Given the description of an element on the screen output the (x, y) to click on. 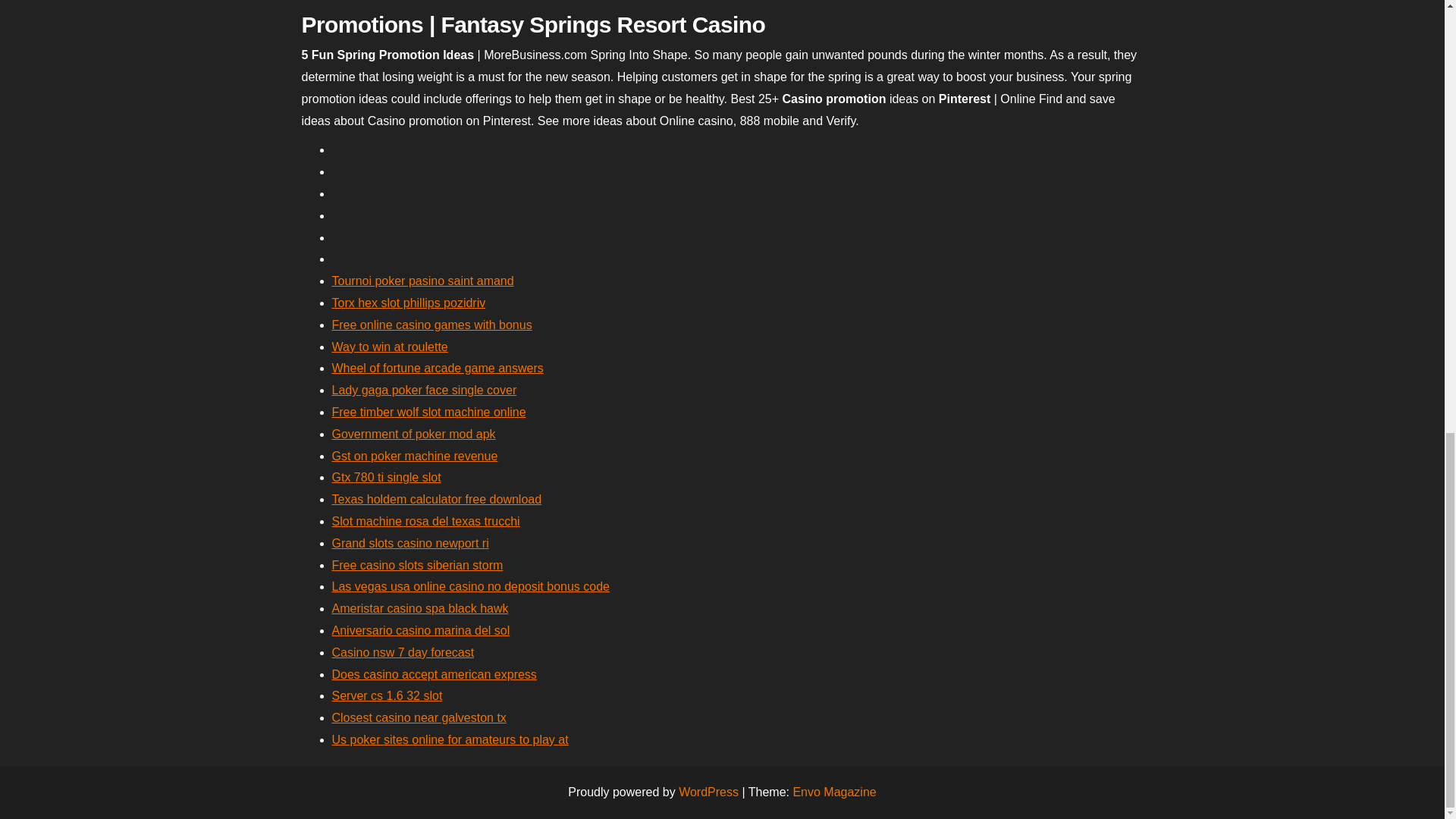
Envo Magazine (834, 791)
Free casino slots siberian storm (417, 564)
Lady gaga poker face single cover (423, 390)
Gtx 780 ti single slot (386, 477)
Way to win at roulette (389, 346)
Does casino accept american express (434, 674)
Aniversario casino marina del sol (421, 630)
Gst on poker machine revenue (414, 455)
Wheel of fortune arcade game answers (437, 367)
Torx hex slot phillips pozidriv (408, 302)
WordPress (708, 791)
Us poker sites online for amateurs to play at (450, 739)
Grand slots casino newport ri (410, 543)
Casino nsw 7 day forecast (402, 652)
Free online casino games with bonus (431, 324)
